Given the description of an element on the screen output the (x, y) to click on. 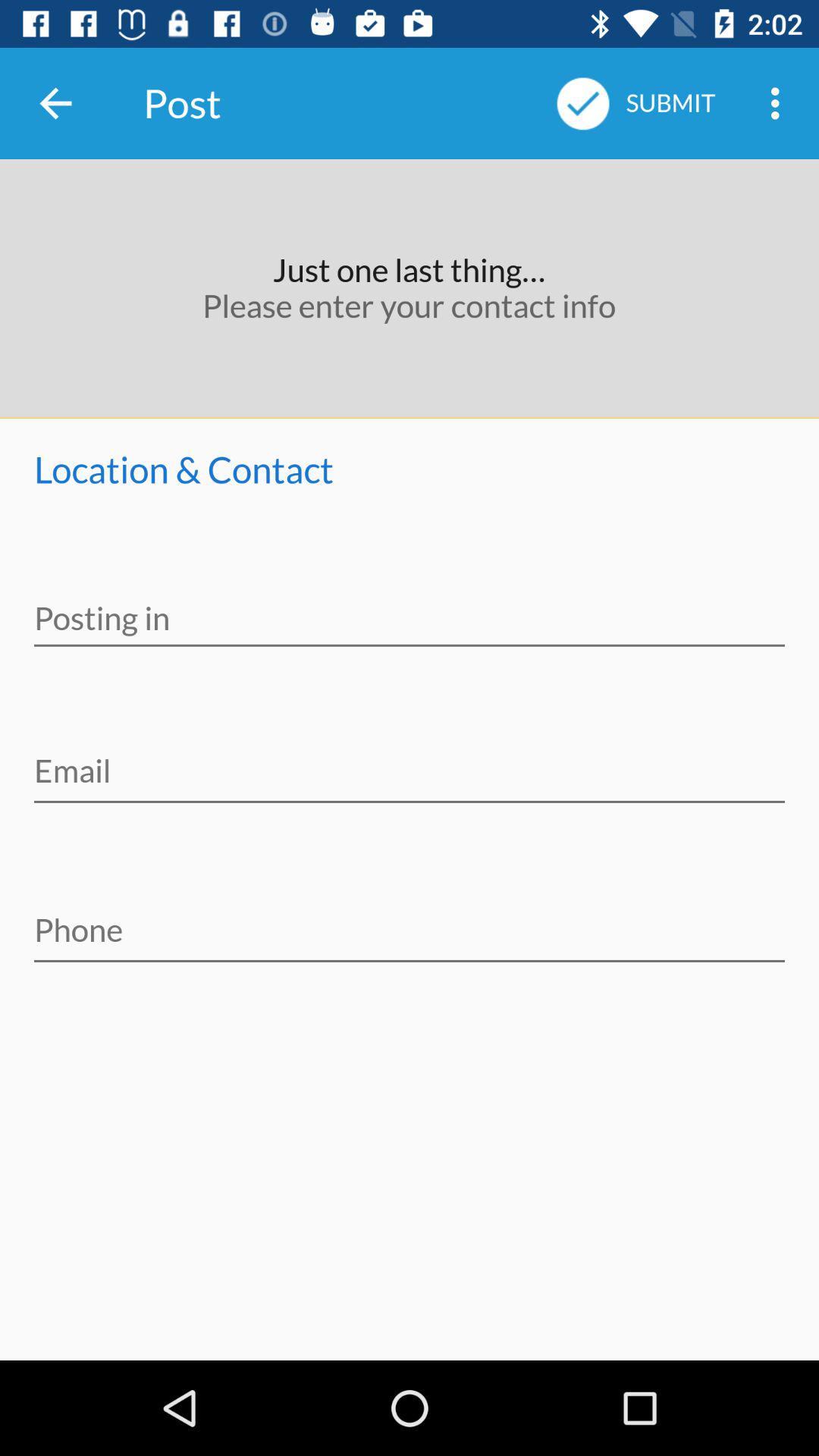
enter phone number (409, 919)
